Given the description of an element on the screen output the (x, y) to click on. 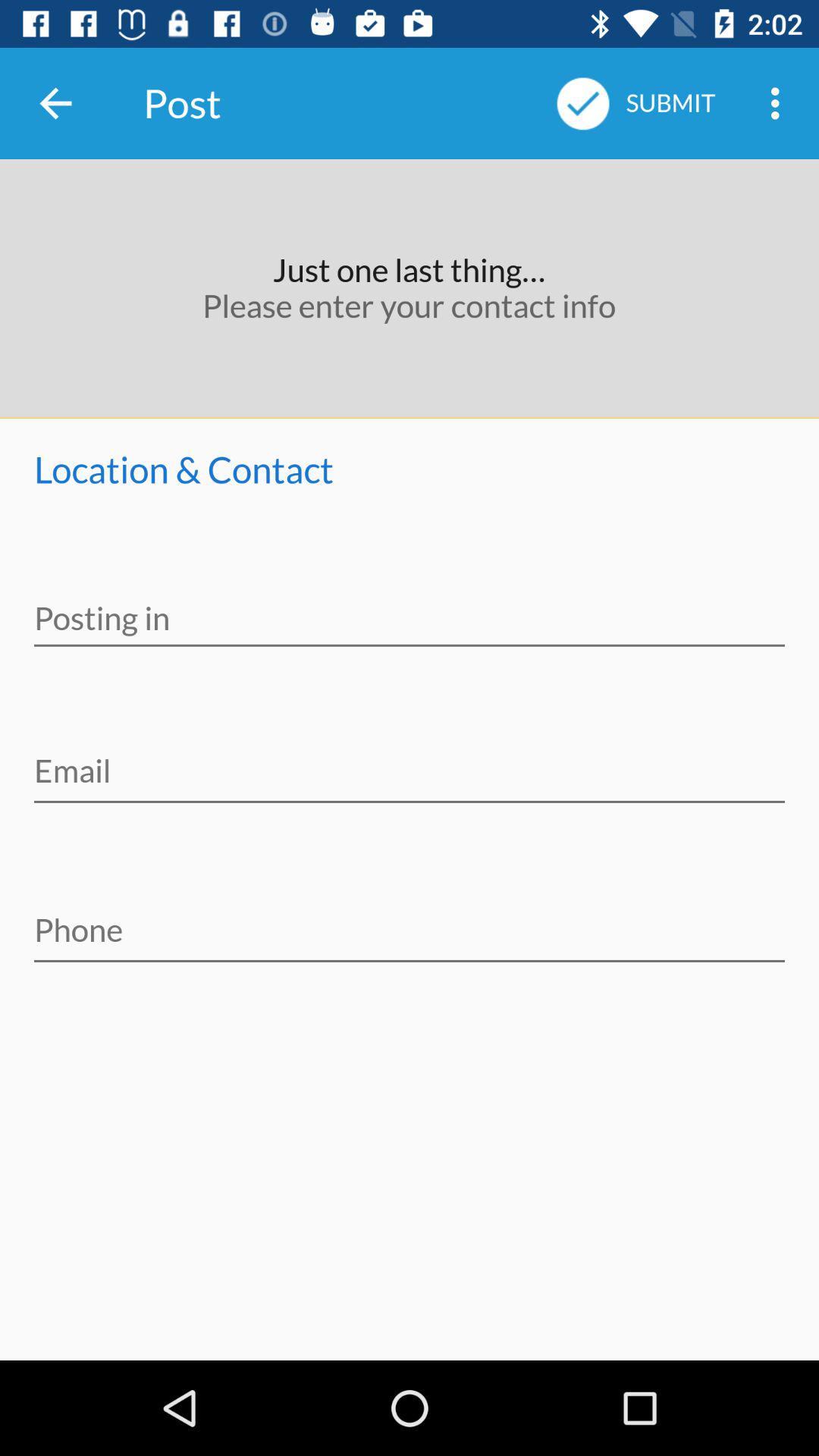
enter phone number (409, 919)
